Given the description of an element on the screen output the (x, y) to click on. 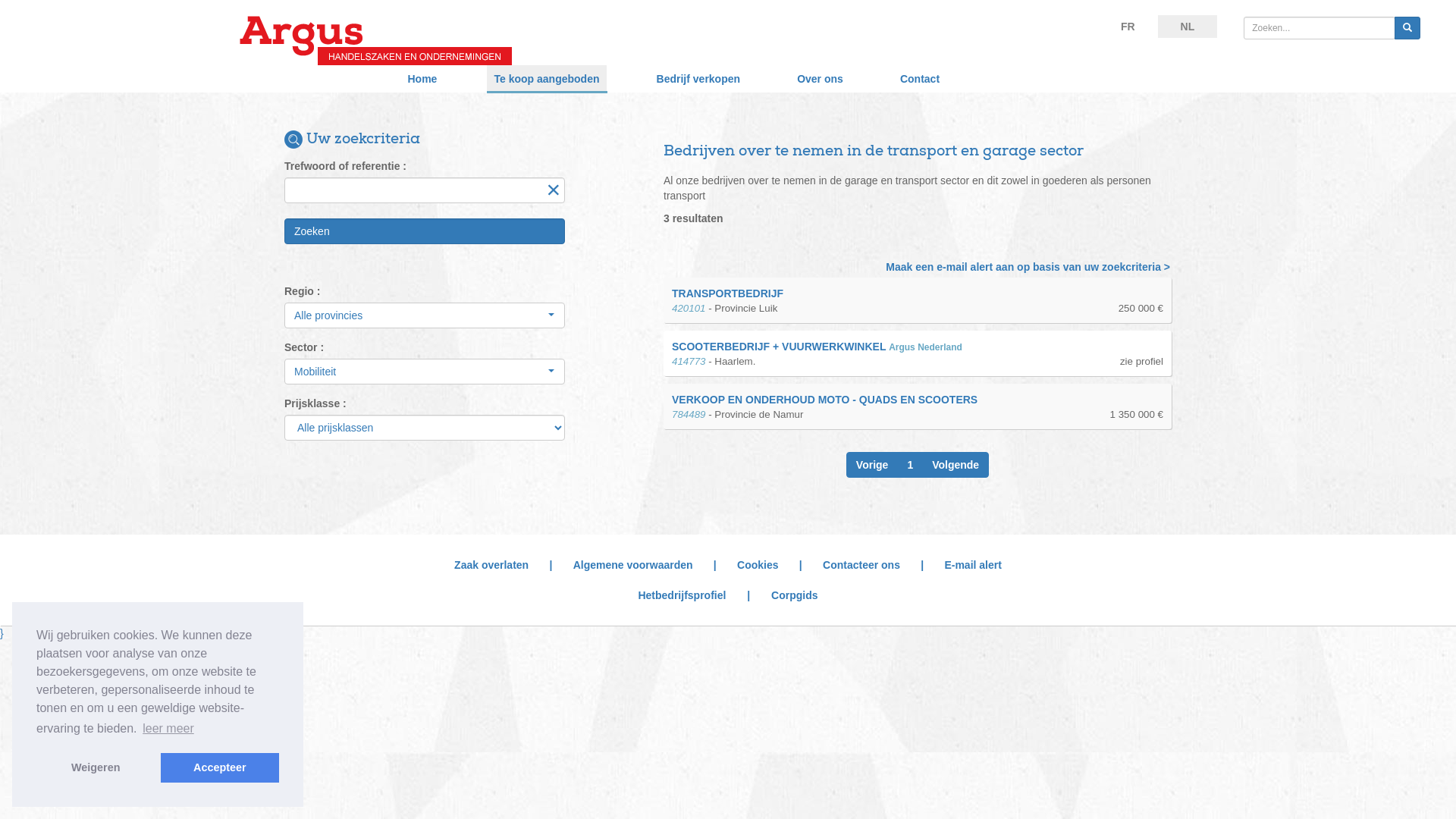
NL Element type: text (1187, 26)
Over ons Element type: text (819, 78)
Cookies Element type: text (757, 564)
leer meer Element type: text (168, 728)
Corpgids Element type: text (794, 595)
Maak een e-mail alert aan op basis van uw zoekcriteria > Element type: text (1027, 266)
Contacteer ons Element type: text (861, 564)
Alle provincies Element type: text (424, 315)
Home Element type: text (422, 78)
Mobiliteit Element type: text (424, 371)
Accepteer Element type: text (219, 767)
E-mail alert Element type: text (972, 564)
Zaak overlaten Element type: text (491, 564)
Zoeken Element type: text (424, 231)
Contact Element type: text (919, 78)
Weigeren Element type: text (95, 767)
Te koop aangeboden Element type: text (546, 78)
Algemene voorwaarden Element type: text (633, 564)
Hetbedrijfsprofiel Element type: text (681, 595)
Bedrijf verkopen Element type: text (698, 78)
FR Element type: text (1127, 26)
